Given the description of an element on the screen output the (x, y) to click on. 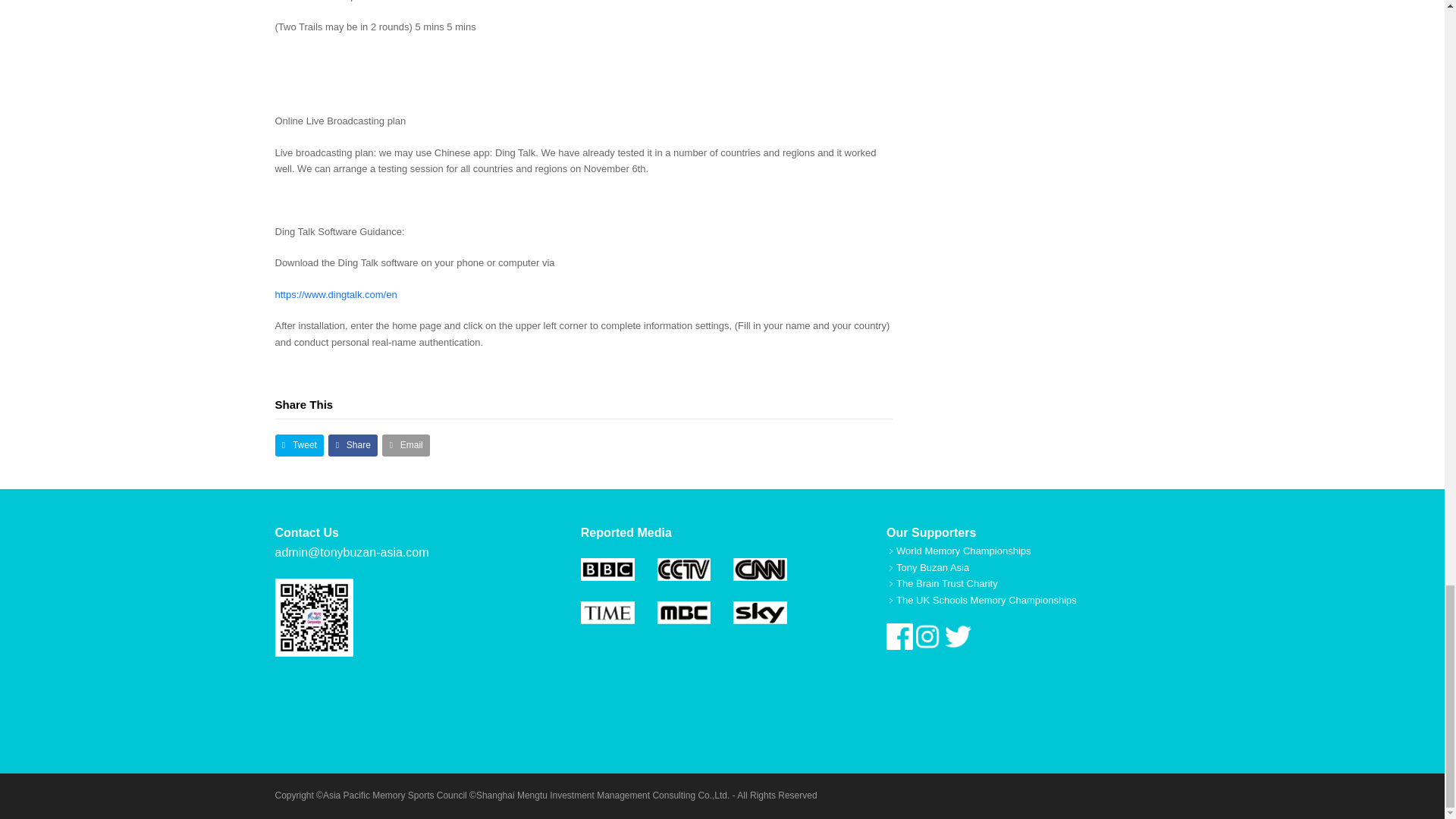
Tweet (299, 445)
